Given the description of an element on the screen output the (x, y) to click on. 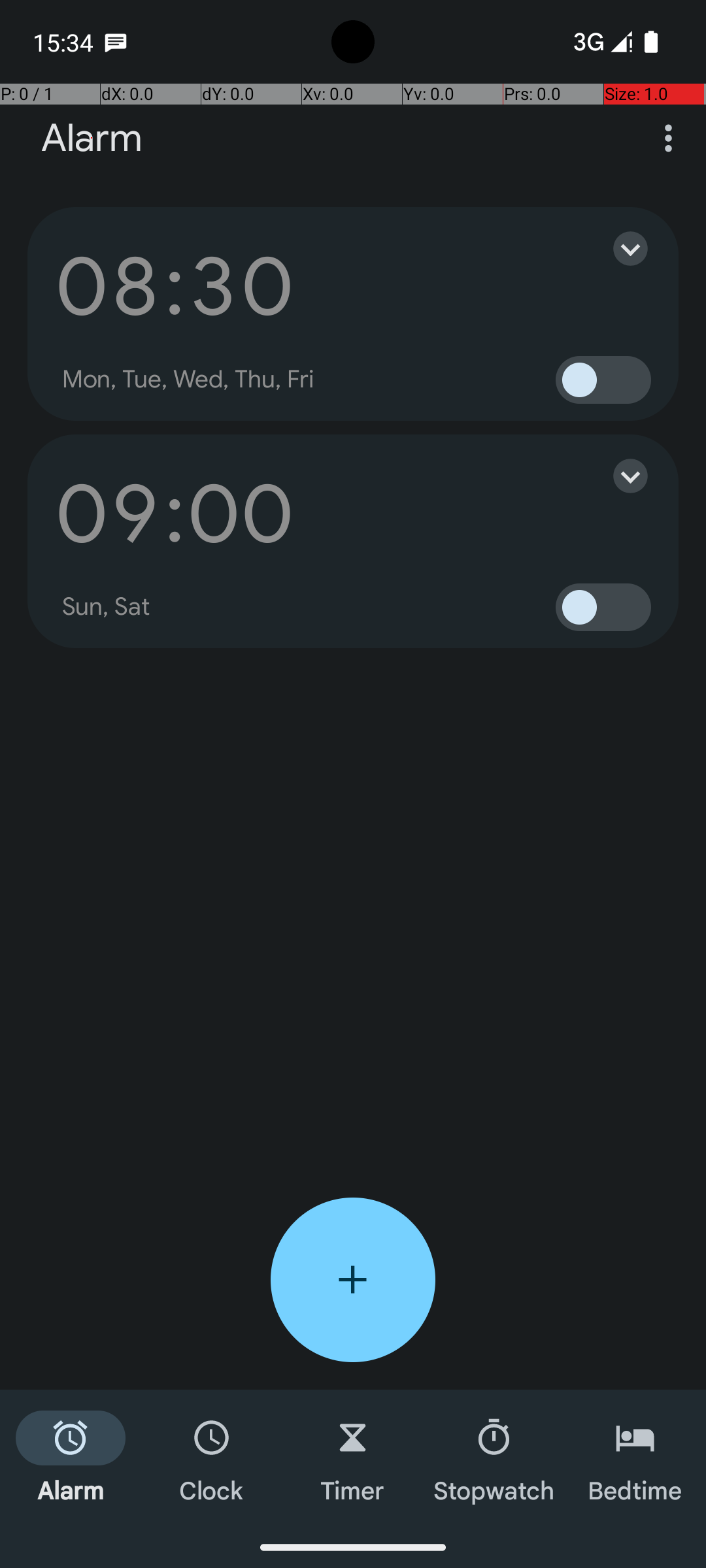
Add alarm Element type: android.widget.Button (352, 1279)
08:30 Element type: android.widget.TextView (174, 286)
Expand alarm Element type: android.widget.ImageButton (616, 248)
Mon, Tue, Wed, Thu, Fri Element type: android.widget.TextView (187, 379)
09:00 Element type: android.widget.TextView (174, 513)
Sun, Sat Element type: android.widget.TextView (106, 606)
